Given the description of an element on the screen output the (x, y) to click on. 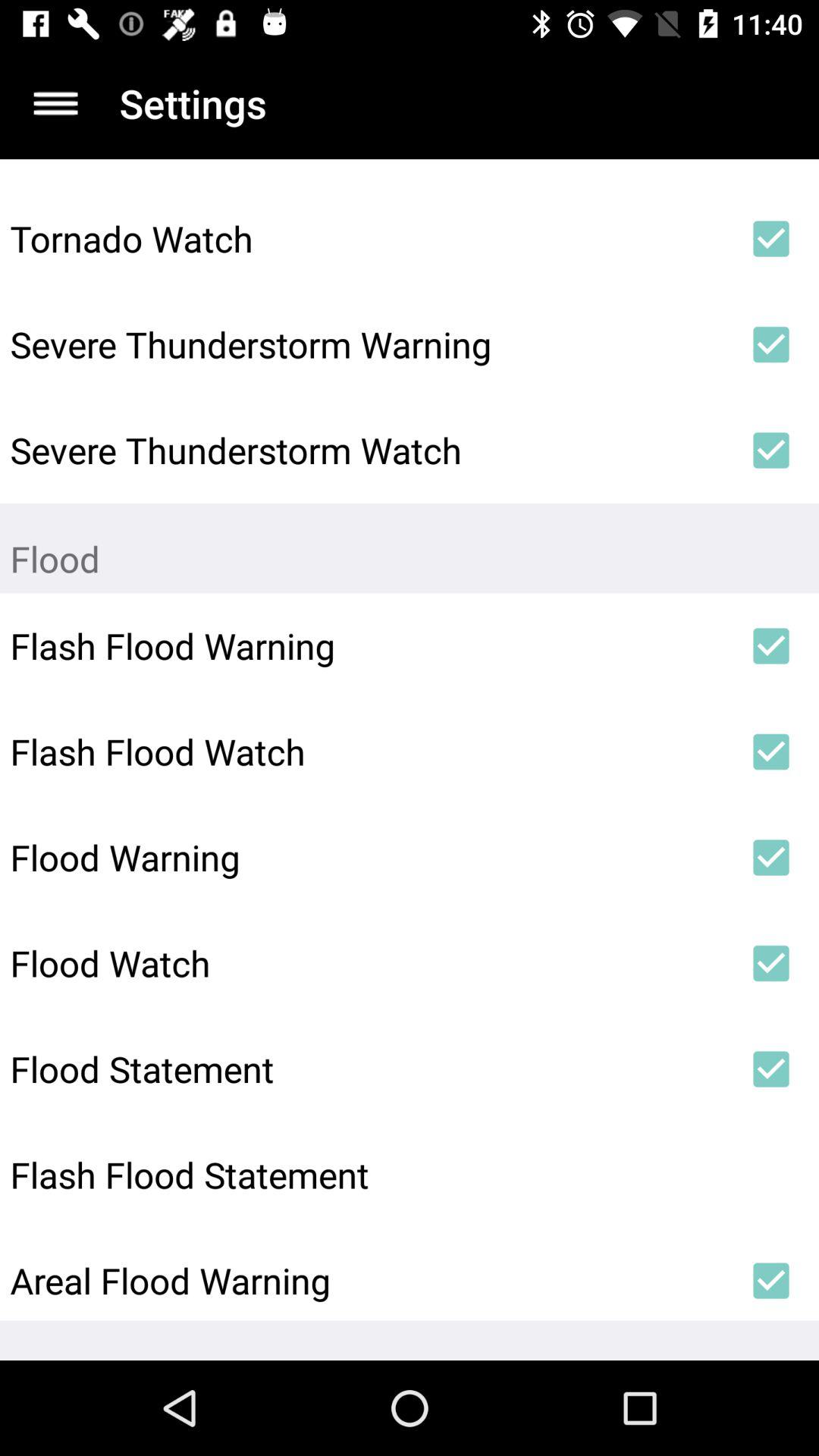
open icon next to flash flood warning (771, 645)
